Given the description of an element on the screen output the (x, y) to click on. 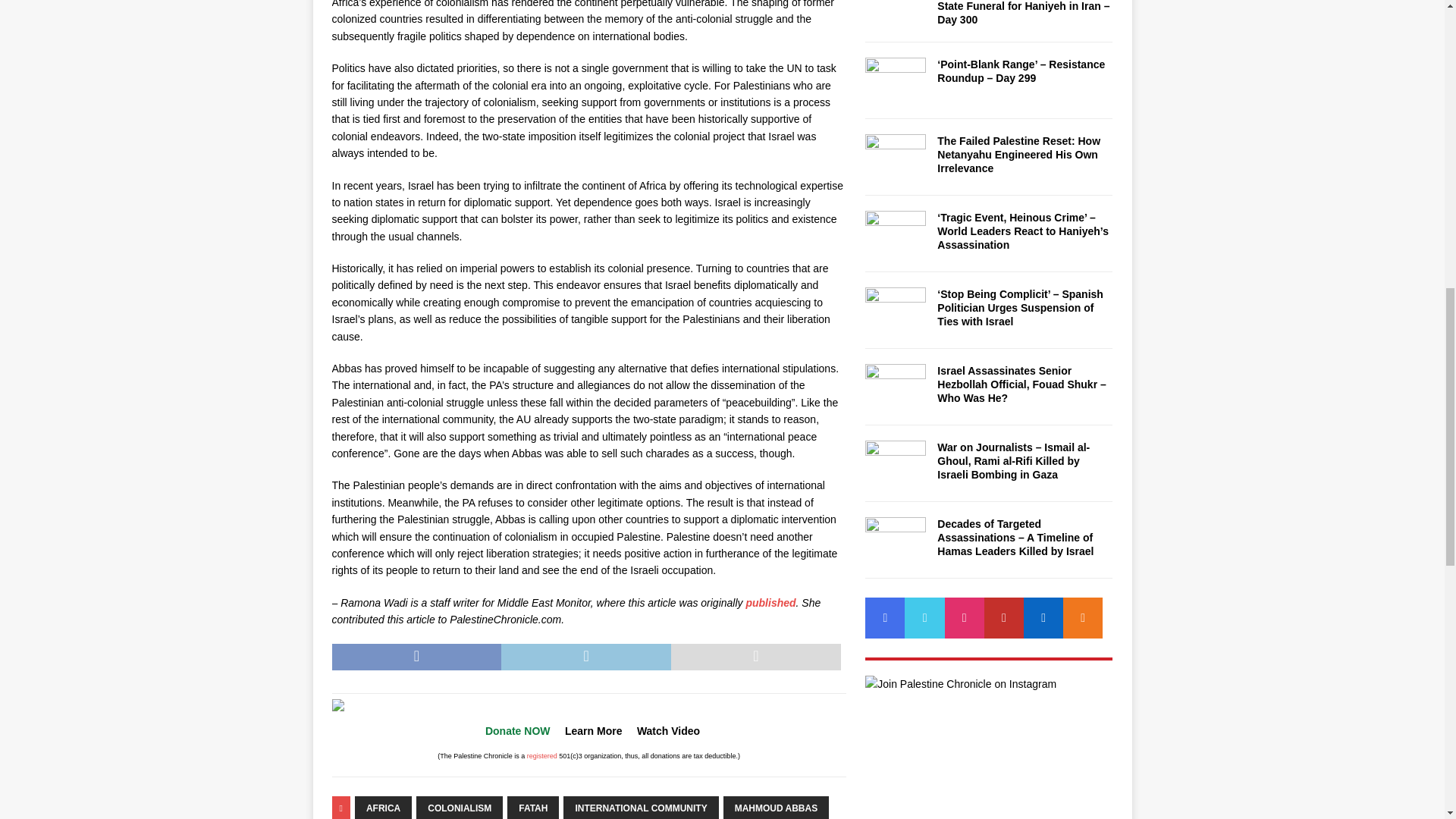
Learn More (592, 730)
registered (542, 756)
Watch Video (668, 730)
published (769, 603)
Donate NOW (517, 730)
